Given the description of an element on the screen output the (x, y) to click on. 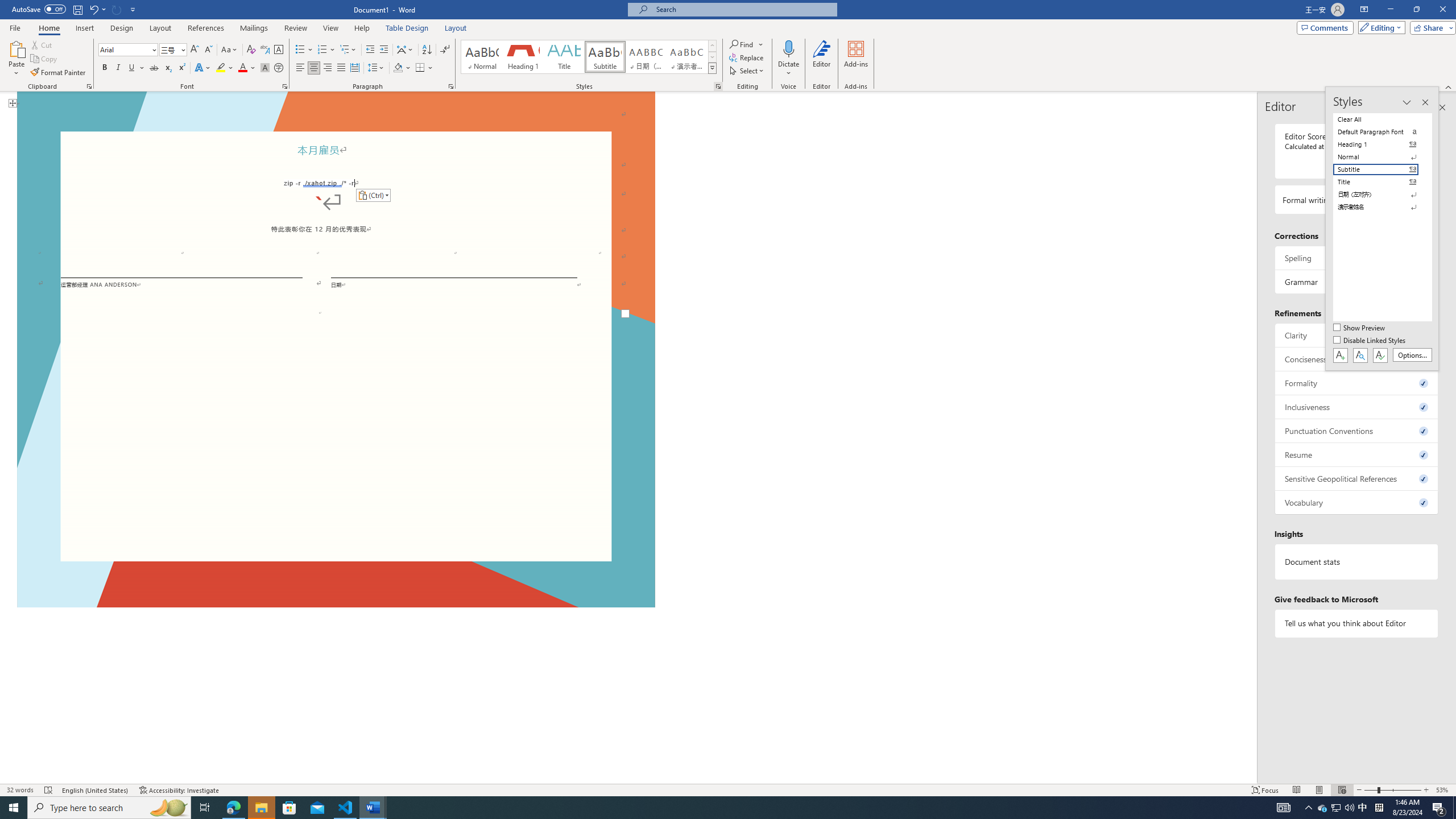
Vocabulary, 0 issues. Press space or enter to review items. (1356, 502)
Default Paragraph Font (1382, 131)
Heading 1 (522, 56)
